Given the description of an element on the screen output the (x, y) to click on. 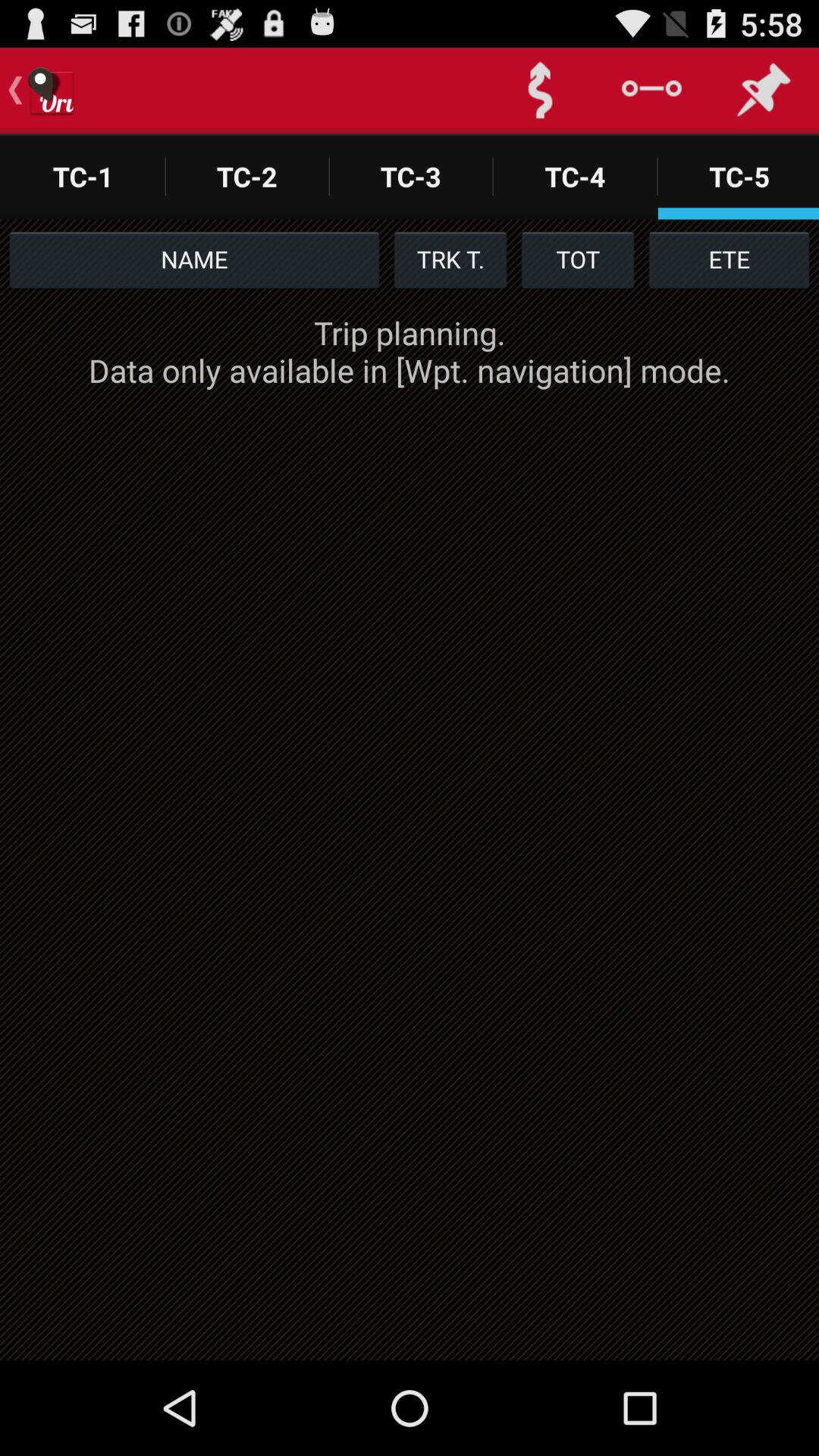
ready to mixing (540, 90)
